Given the description of an element on the screen output the (x, y) to click on. 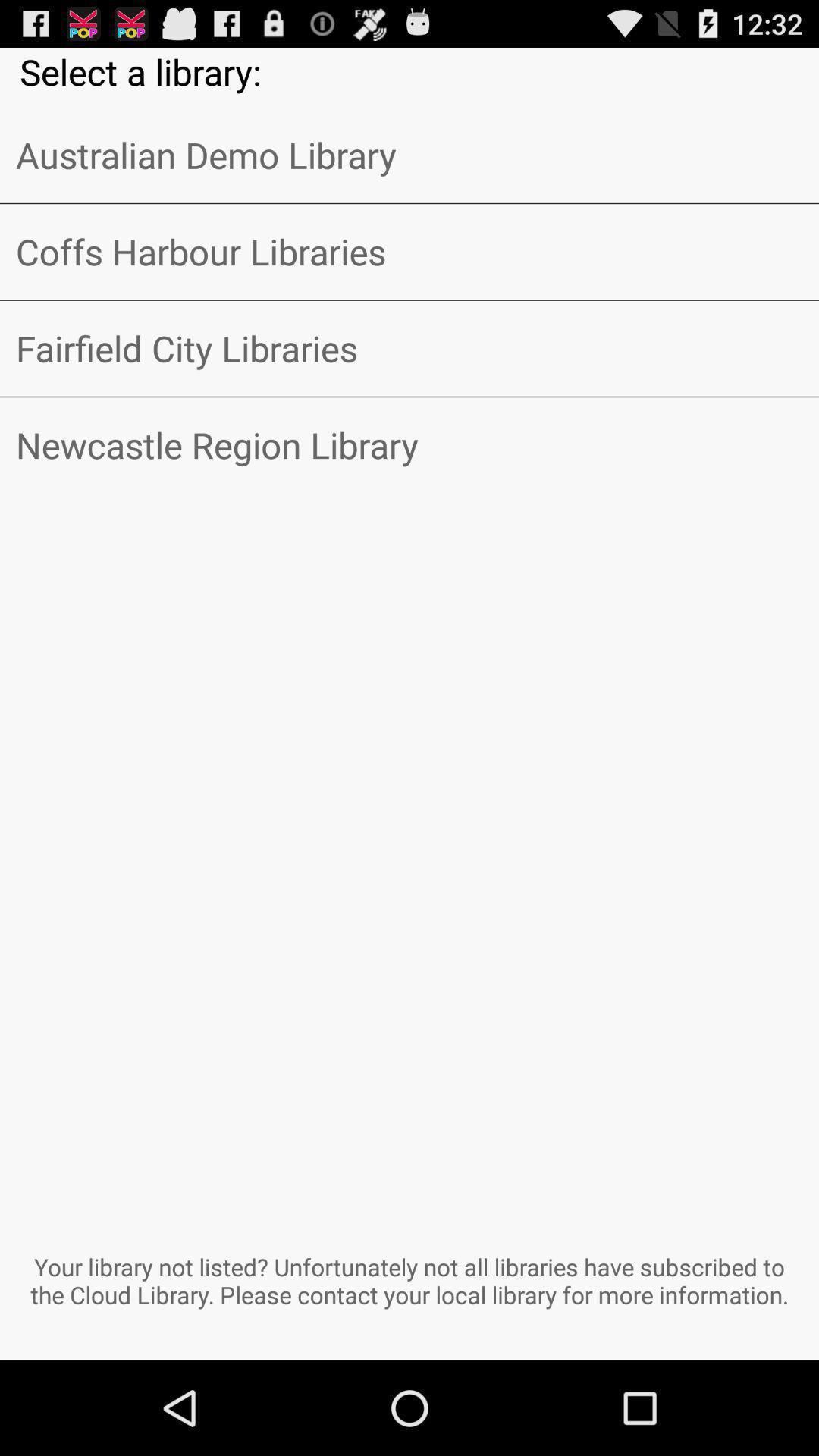
launch the icon below the fairfield city libraries icon (409, 445)
